Given the description of an element on the screen output the (x, y) to click on. 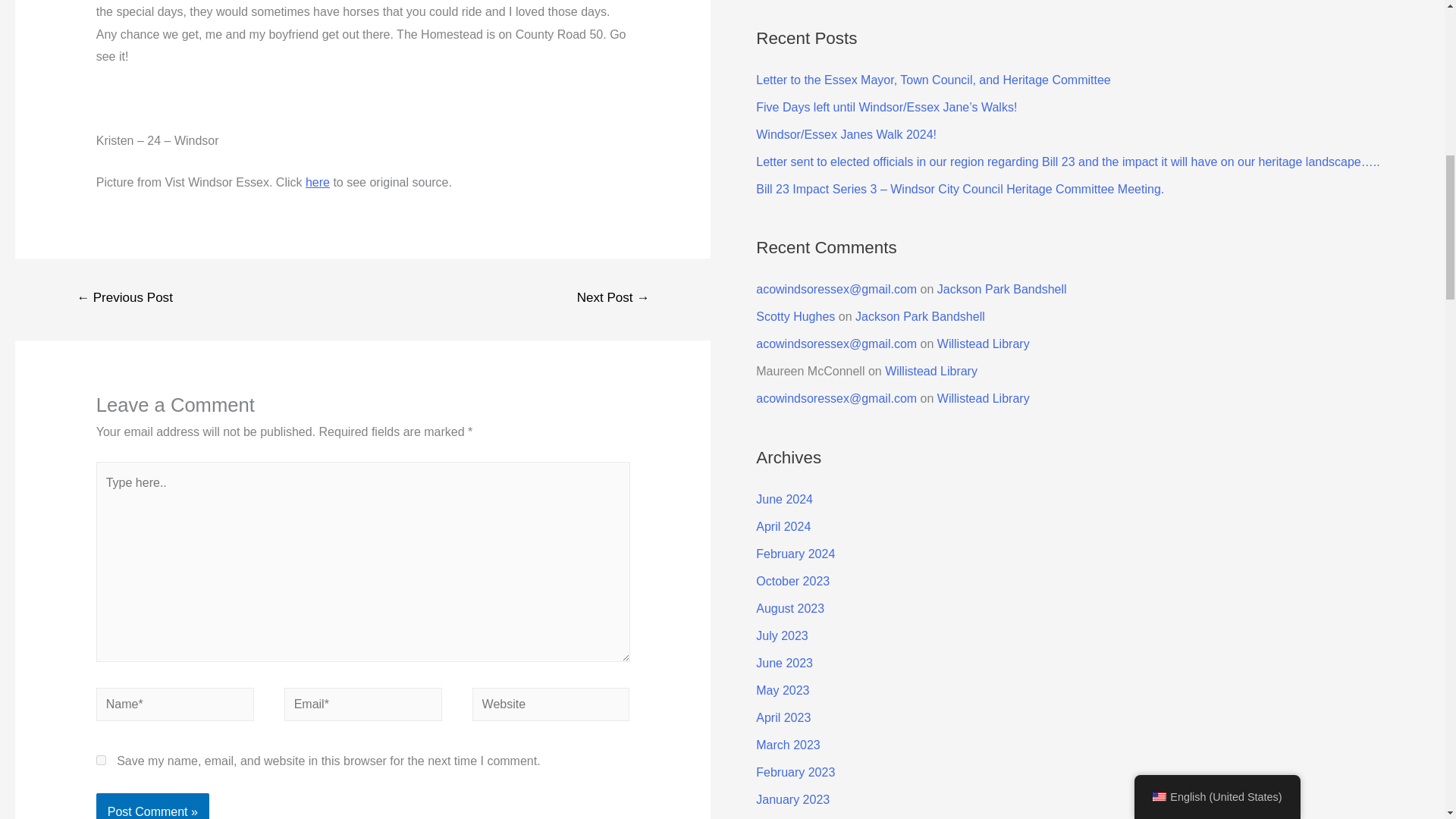
Jackson Park Bandshell (1002, 288)
here (317, 182)
yes (101, 759)
